Given the description of an element on the screen output the (x, y) to click on. 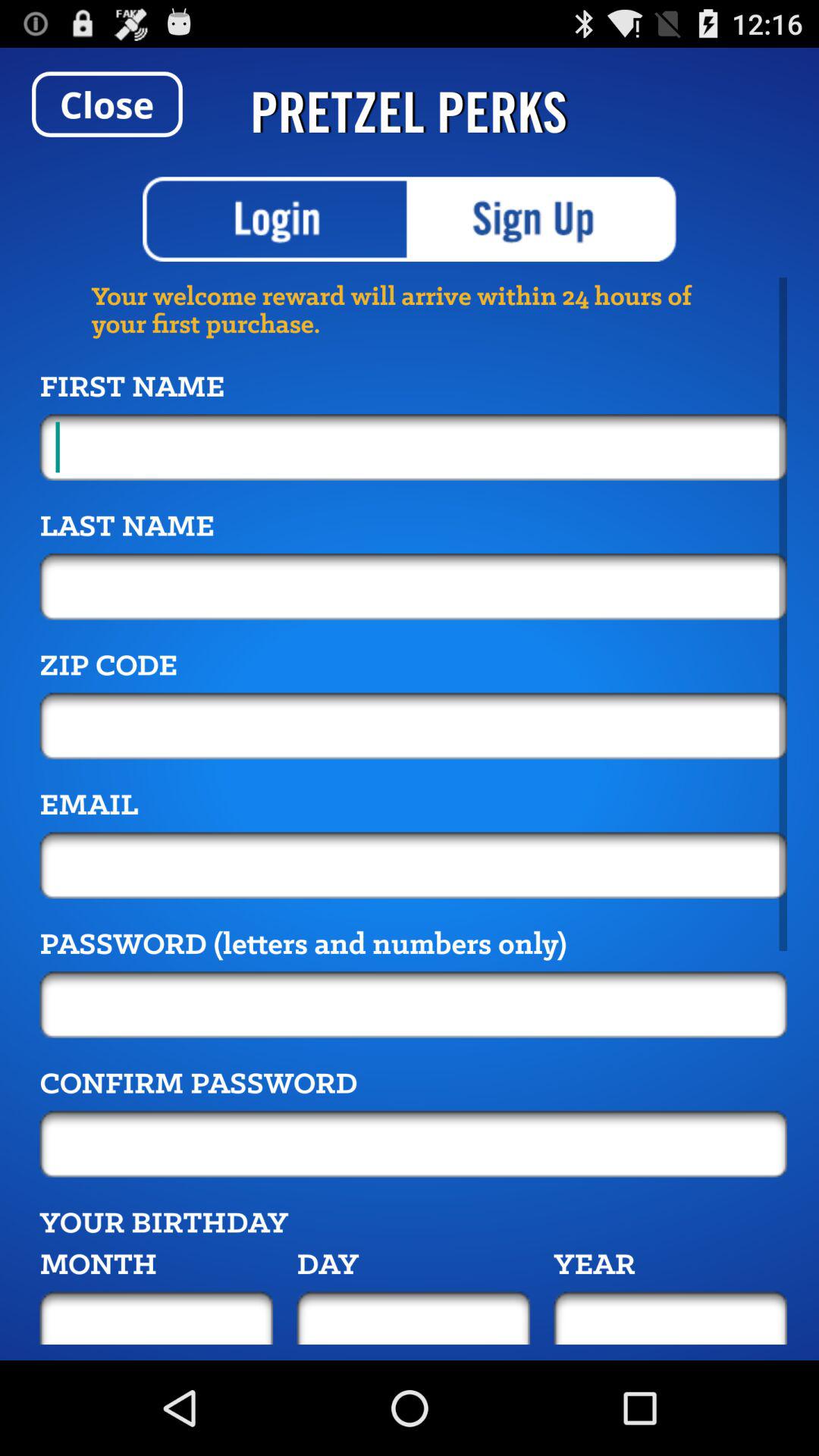
account sign-up (543, 218)
